Given the description of an element on the screen output the (x, y) to click on. 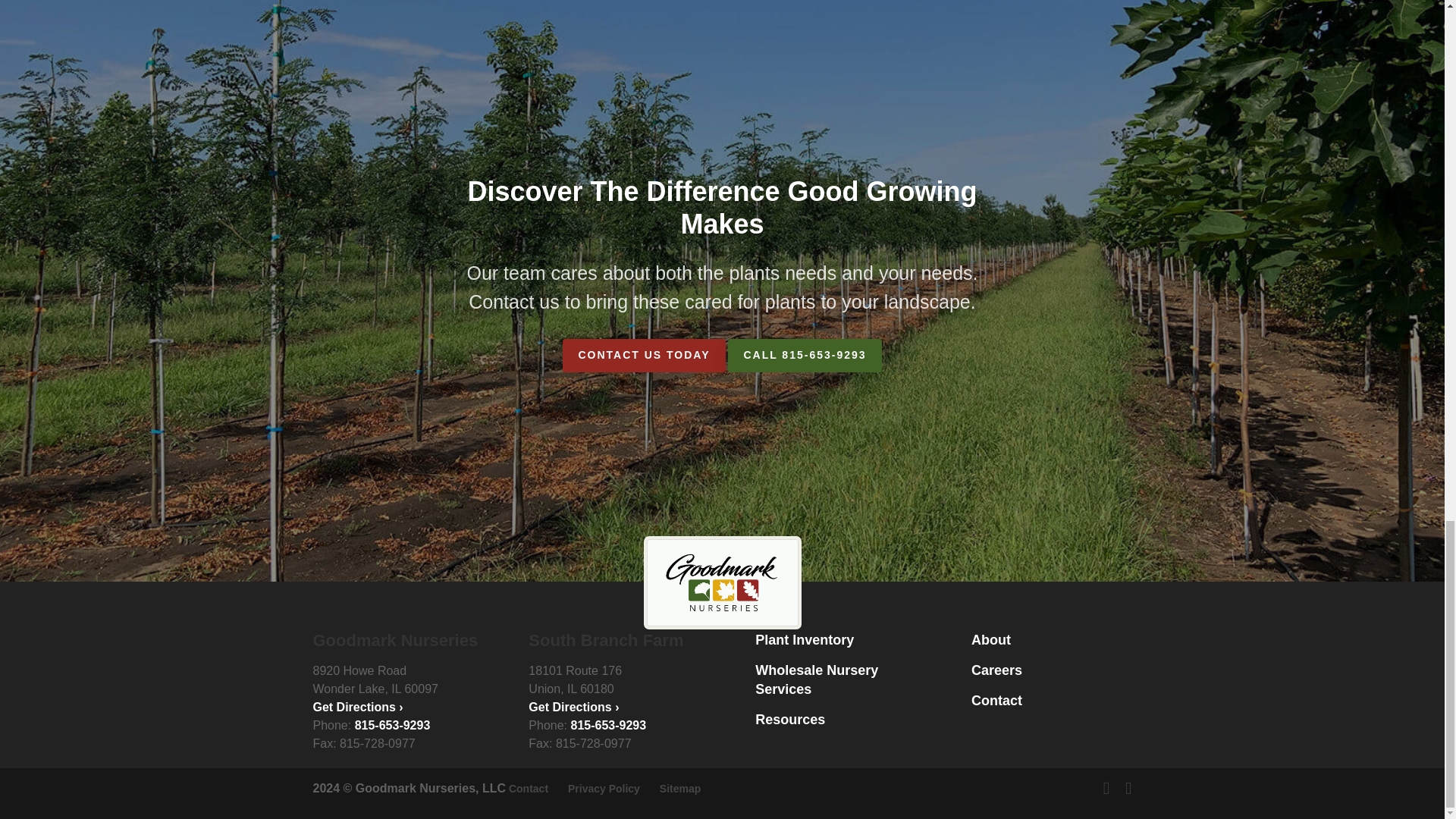
Privacy Policy (603, 788)
Wholesale Nursery Services (816, 679)
CALL 815-653-9293 (804, 355)
Sitemap (679, 788)
Plant Inventory (804, 639)
About (990, 639)
CONTACT US TODAY (643, 355)
Resources (790, 719)
Contact (996, 700)
815-653-9293 (392, 725)
Careers (996, 670)
815-653-9293 (608, 725)
Contact (528, 788)
